Given the description of an element on the screen output the (x, y) to click on. 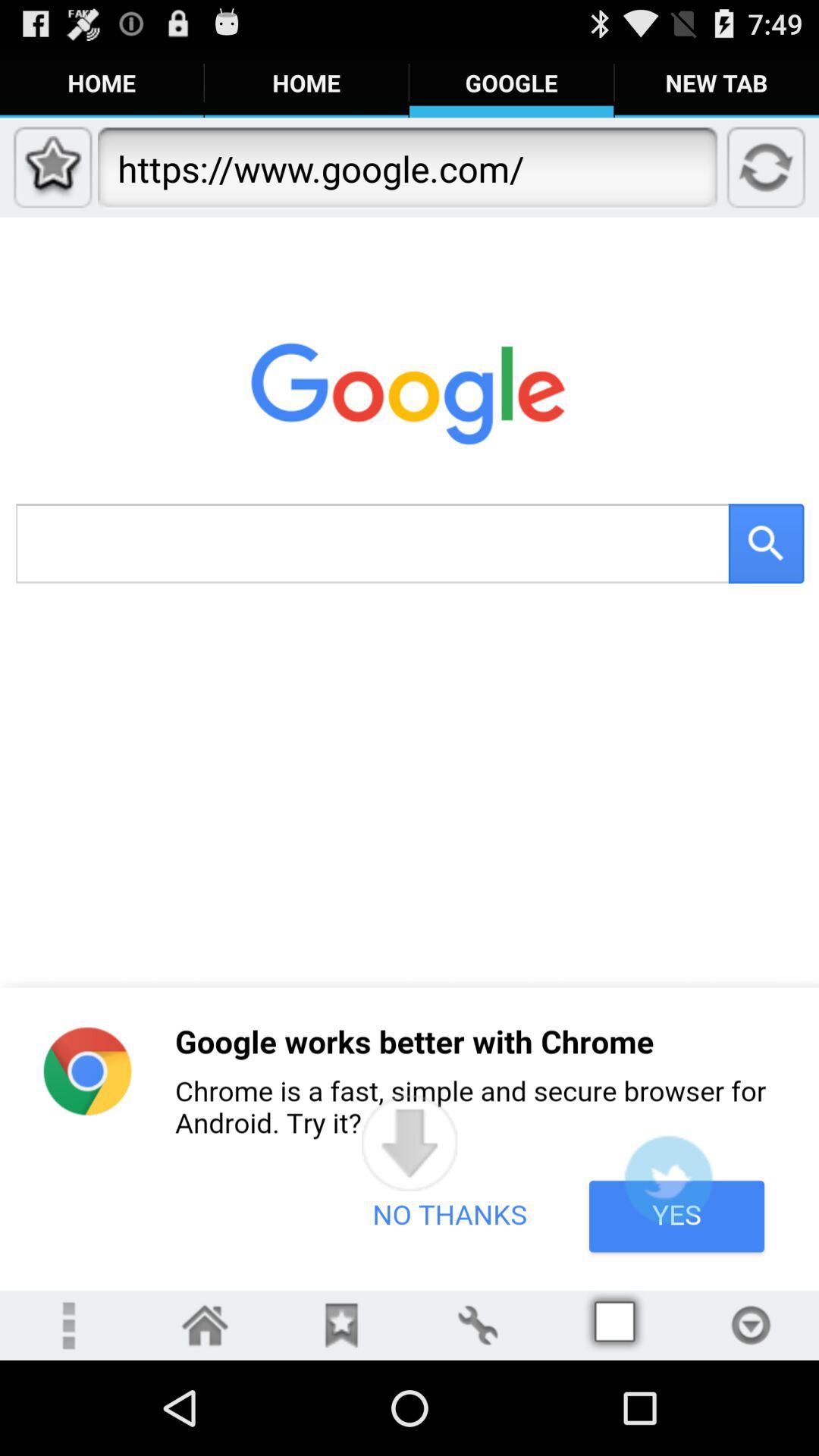
favorite (341, 1325)
